Given the description of an element on the screen output the (x, y) to click on. 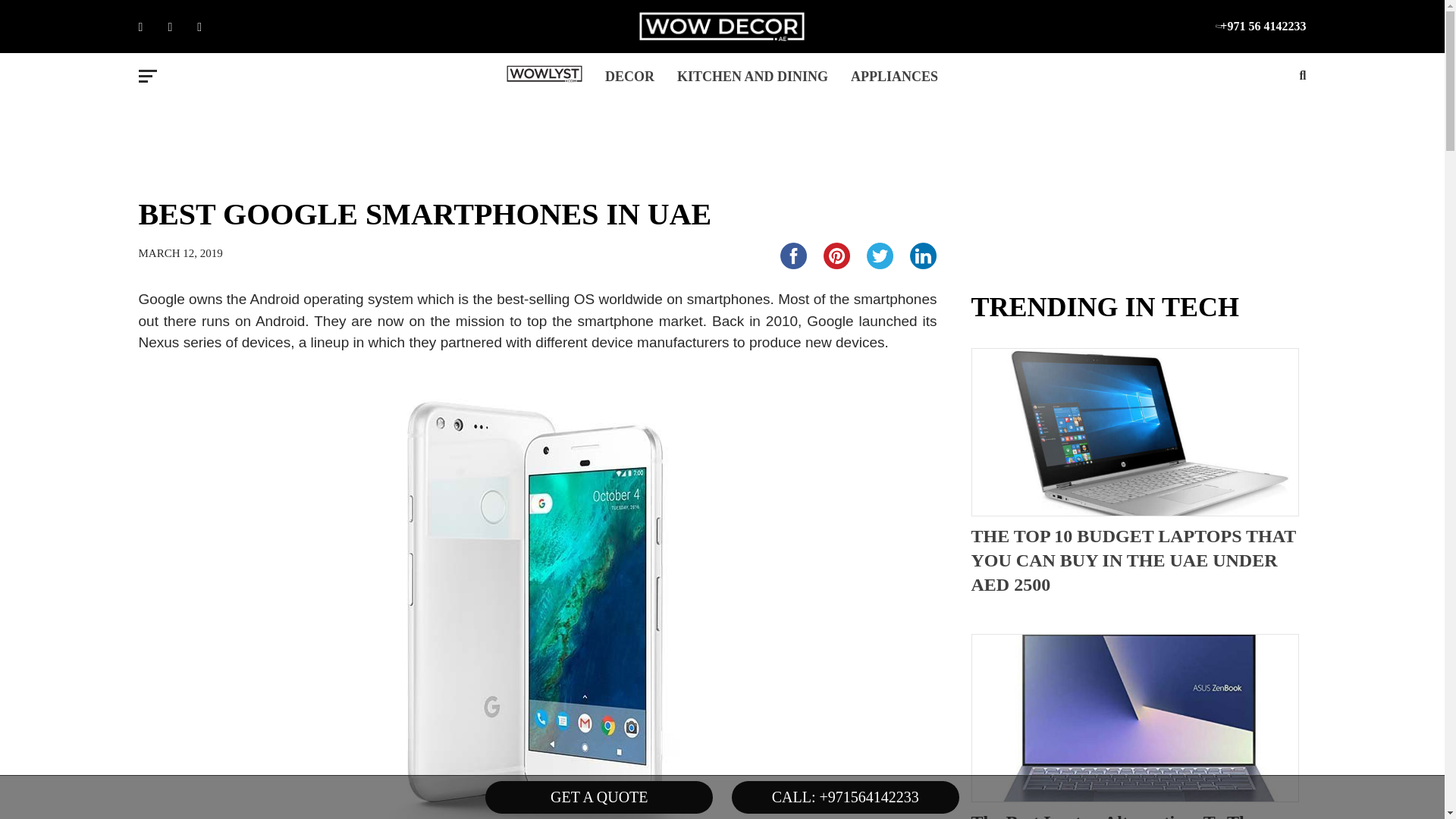
Instagram (210, 26)
Facebook (792, 255)
Twitter (878, 255)
Facebook (151, 26)
KITCHEN AND DINING (752, 76)
LinkedIn (922, 255)
DECOR (629, 76)
Twitter (180, 26)
Pinterest (836, 255)
APPLIANCES (894, 76)
